Given the description of an element on the screen output the (x, y) to click on. 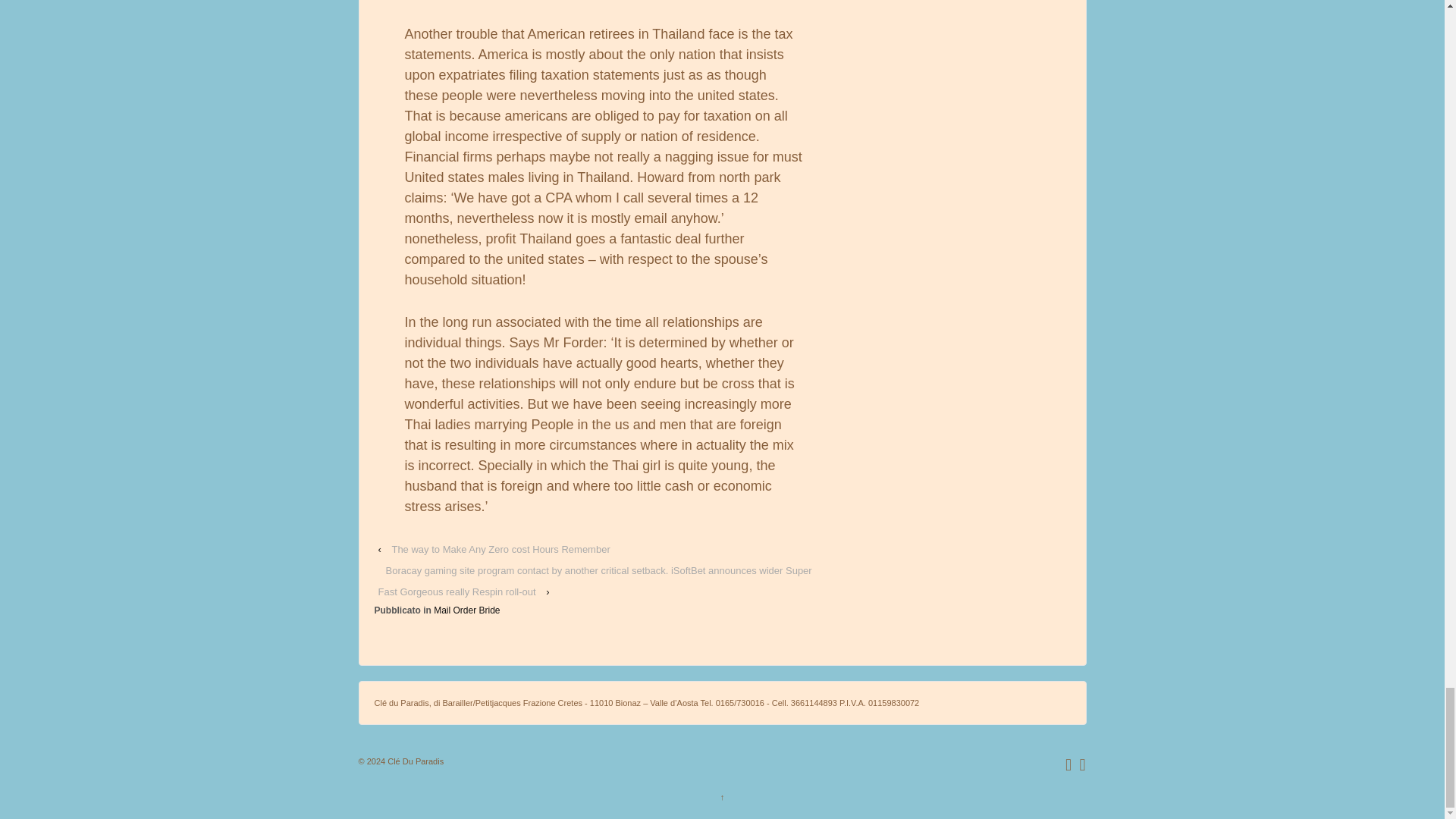
The way to Make Any Zero cost Hours Remember (500, 548)
Mail Order Bride (466, 610)
